Given the description of an element on the screen output the (x, y) to click on. 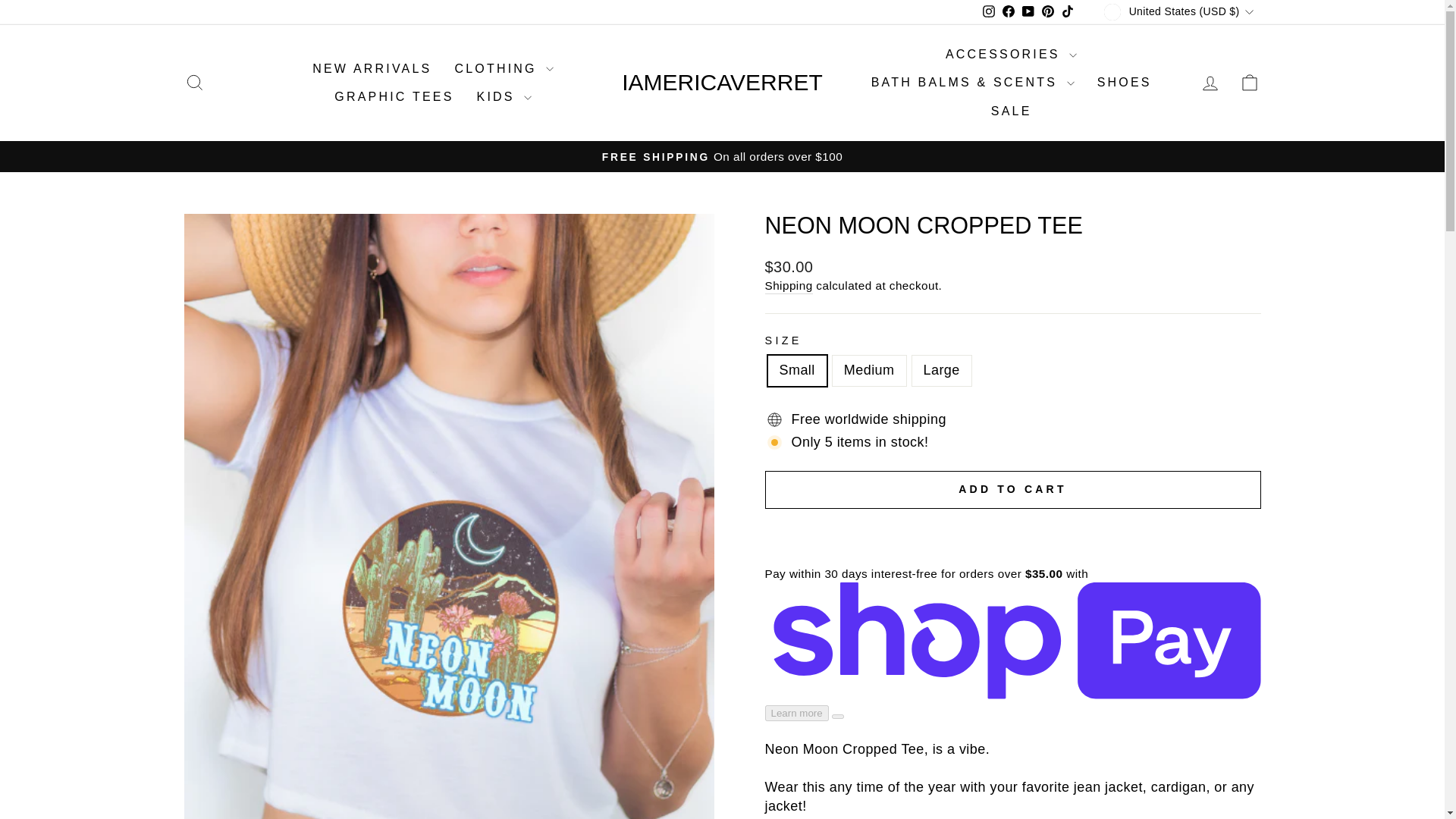
ICON-SEARCH (194, 82)
ICON-BAG-MINIMAL (1249, 82)
ACCOUNT (1210, 83)
instagram (988, 10)
